Given the description of an element on the screen output the (x, y) to click on. 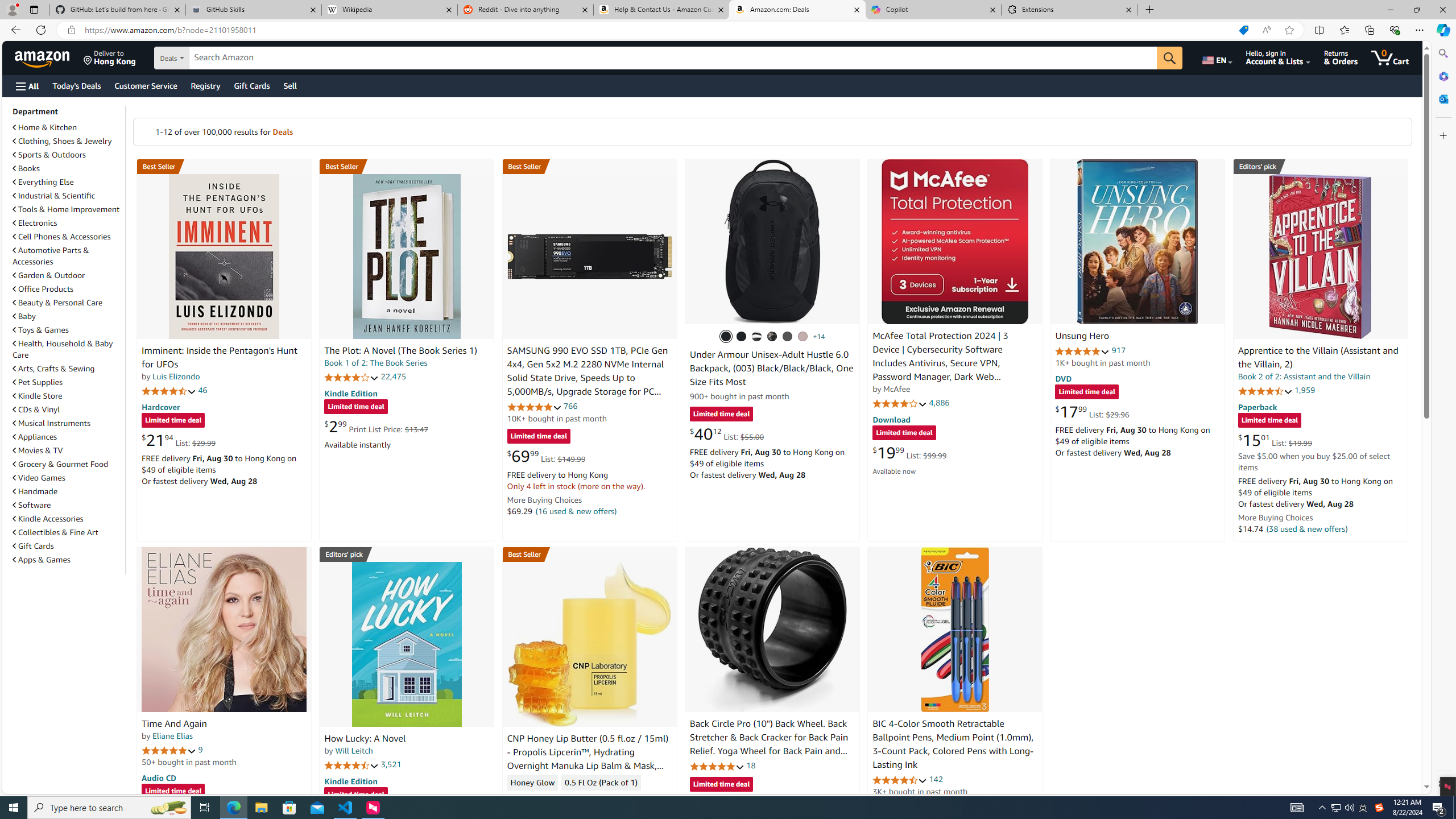
Shopping in Microsoft Edge (1243, 29)
Copilot (933, 9)
4.3 out of 5 stars (534, 799)
Customize (1442, 135)
Grocery & Gourmet Food (61, 463)
Imminent: Inside the Pentagon's Hunt for UFOs (223, 256)
Sports & Outdoors (67, 154)
Arts, Crafts & Sewing (67, 368)
Clothing, Shoes & Jewelry (62, 140)
Electronics (67, 222)
Everything Else (67, 181)
Luis Elizondo (175, 376)
How Lucky: A Novel (405, 644)
DVD (1063, 378)
